Given the description of an element on the screen output the (x, y) to click on. 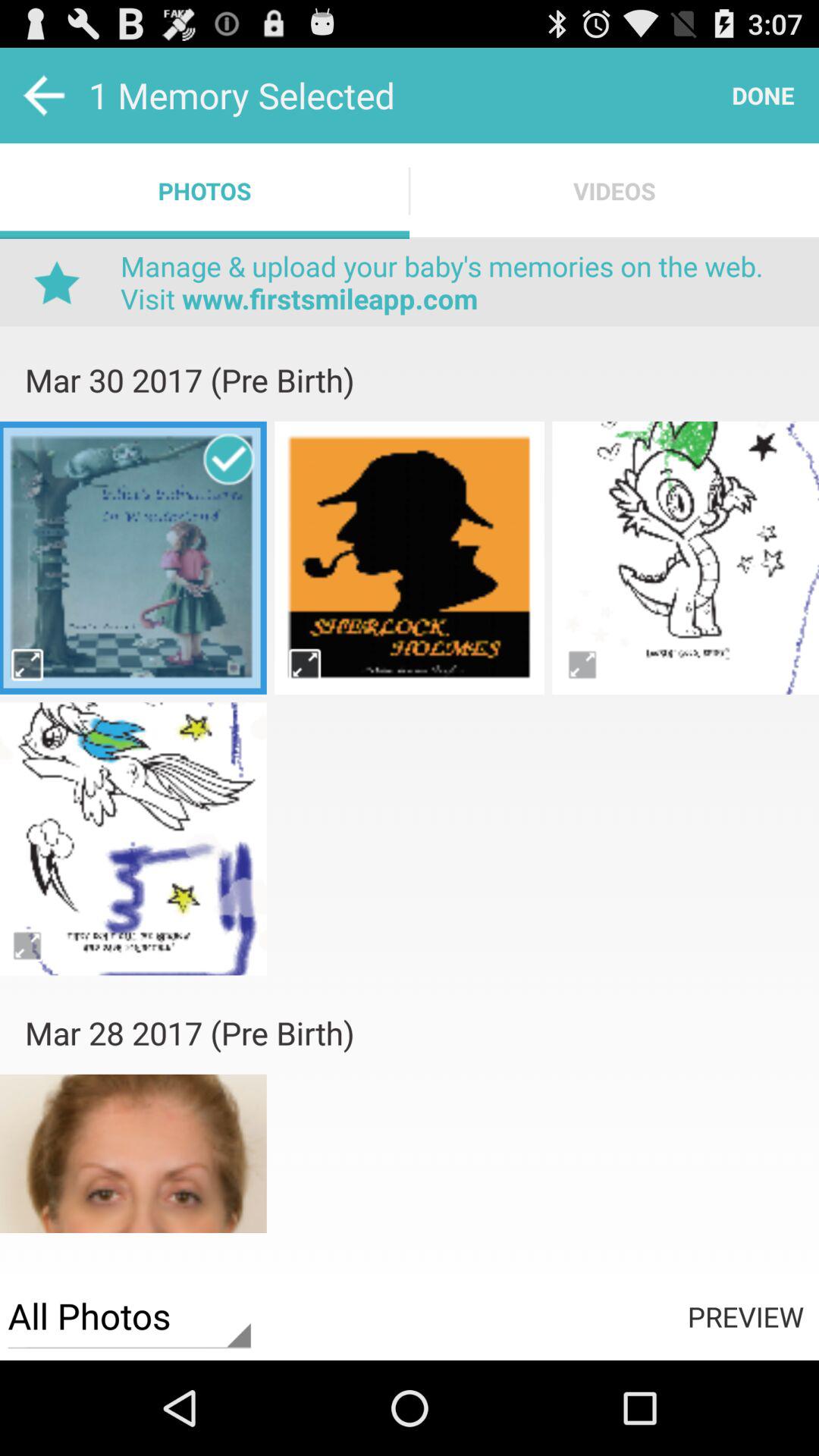
vedio select putton (133, 557)
